Given the description of an element on the screen output the (x, y) to click on. 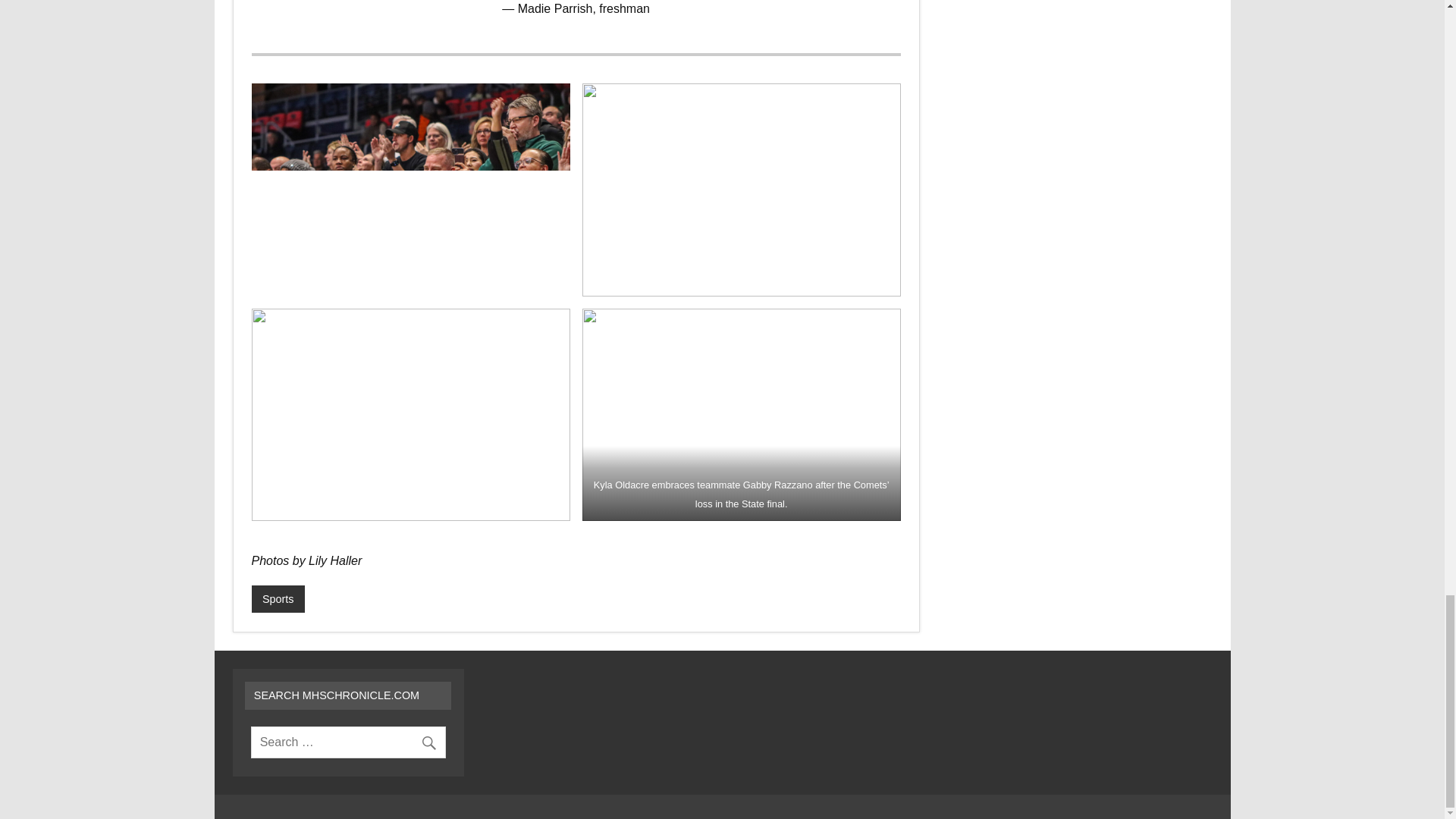
Sports (277, 598)
